Given the description of an element on the screen output the (x, y) to click on. 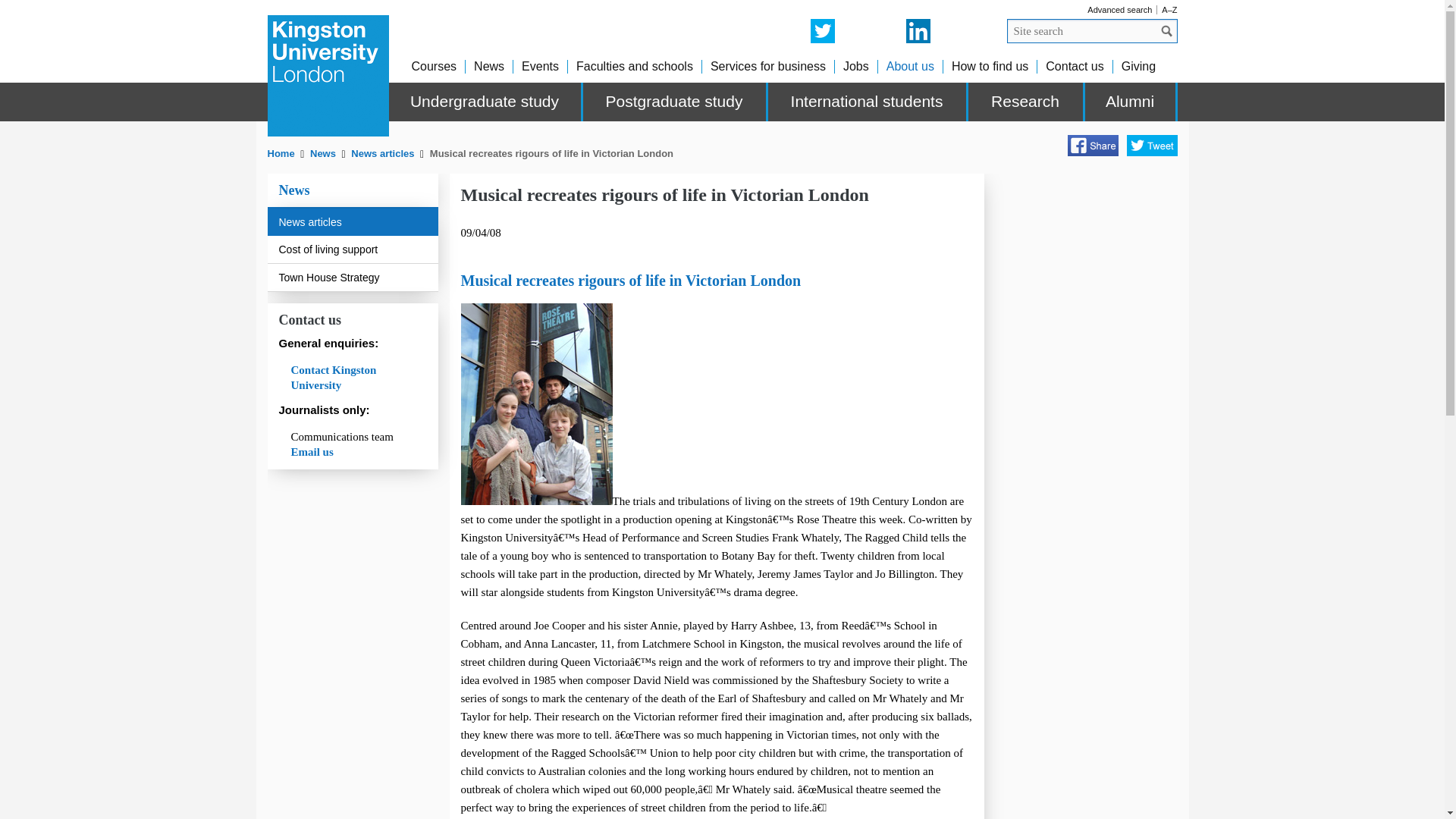
About us (910, 65)
Giving (1138, 65)
Postgraduate study (674, 101)
Facebook (1092, 145)
Twitter (821, 30)
Courses (433, 65)
International students (867, 101)
Kingston University London (327, 75)
Home (281, 153)
News (323, 153)
Research (1026, 101)
Advanced search (1119, 9)
Jobs (856, 65)
Instagram (853, 30)
